Given the description of an element on the screen output the (x, y) to click on. 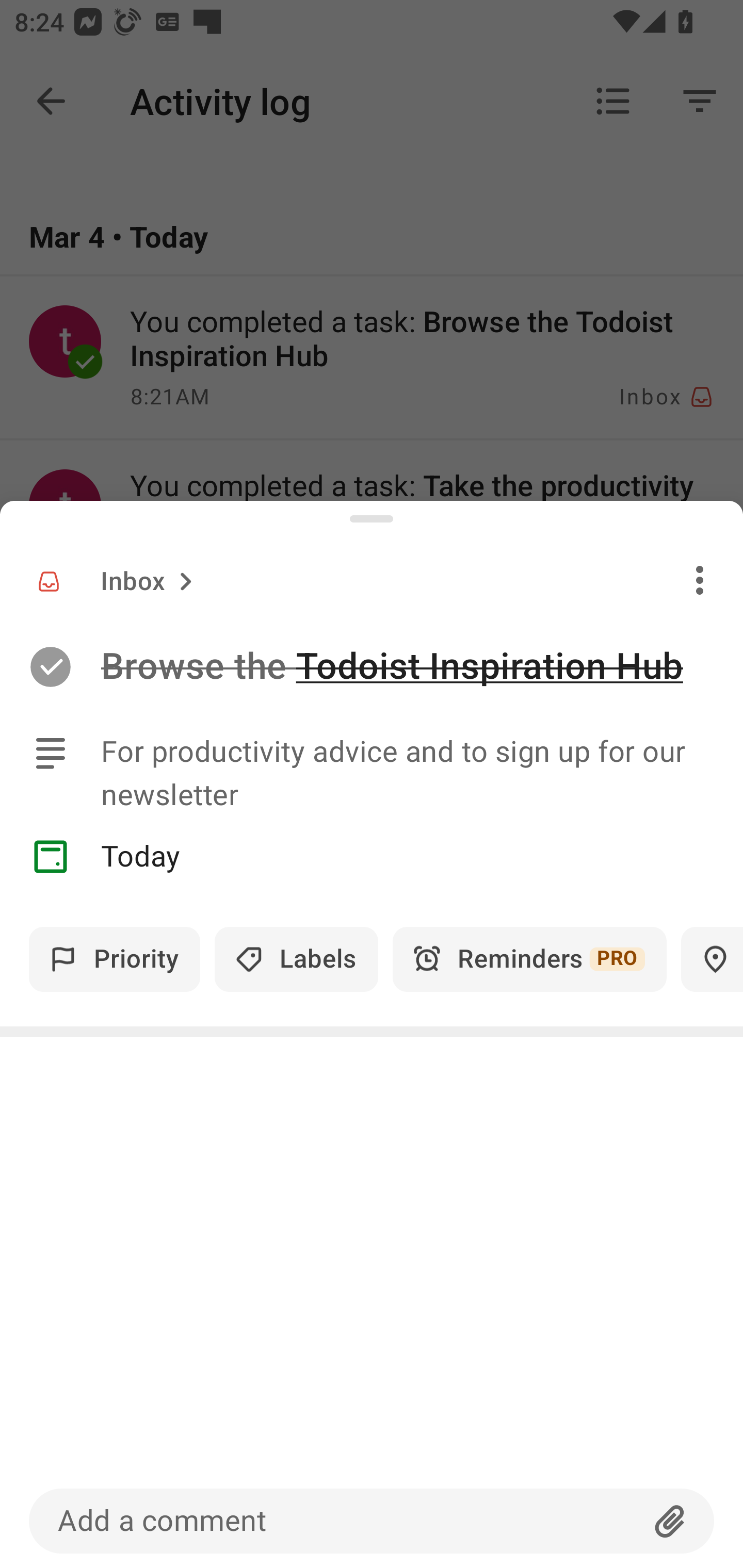
Overflow menu (699, 580)
Complete (50, 667)
Browse the Todoist Inspiration Hub​ (422, 666)
Date Today (371, 856)
Priority (113, 959)
Labels (296, 959)
Reminders PRO (529, 959)
Locations PRO (712, 959)
Add a comment Attachment (371, 1520)
Attachment (670, 1520)
